Given the description of an element on the screen output the (x, y) to click on. 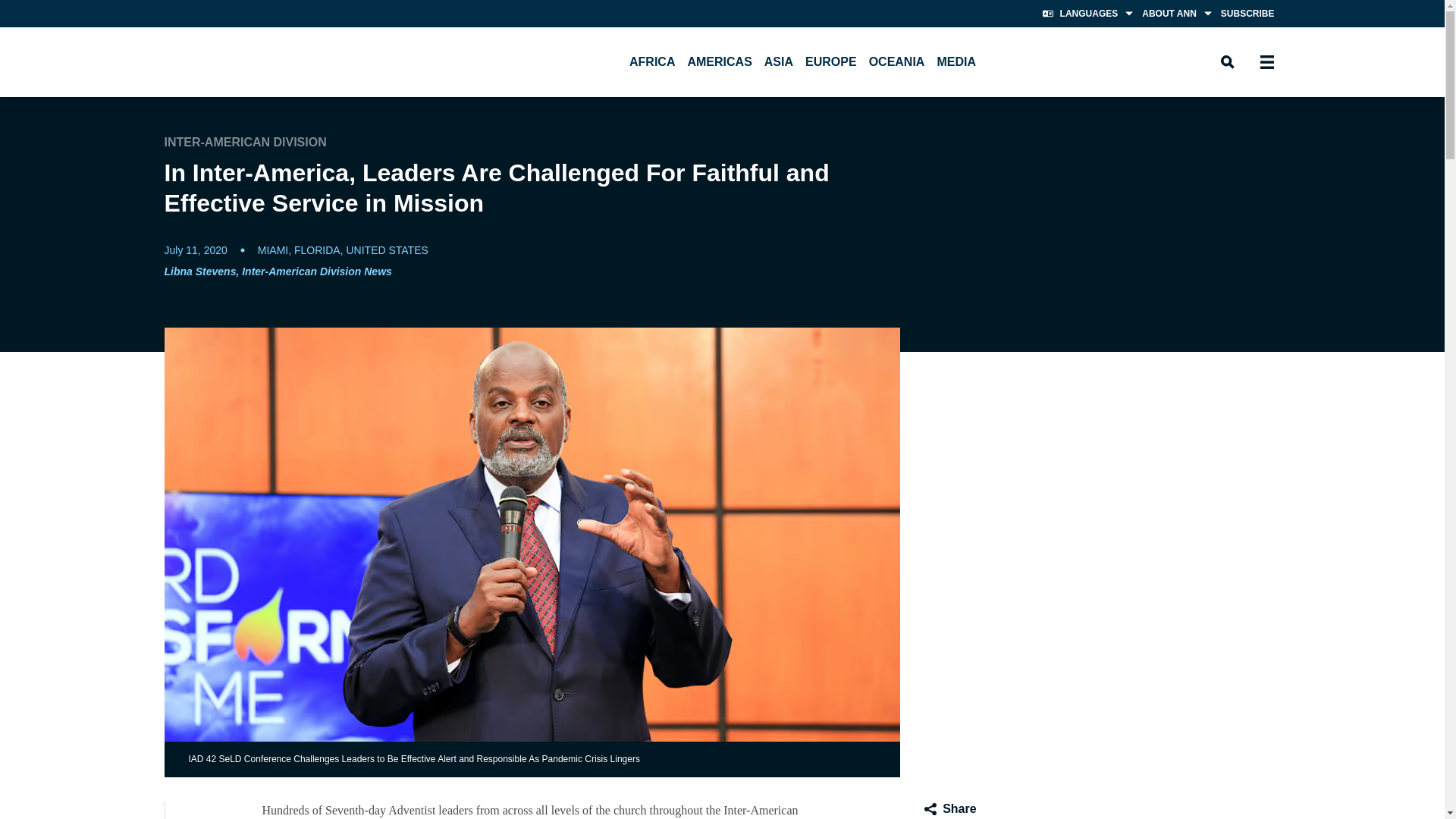
AMERICAS (719, 61)
ABOUT ANN (1174, 13)
ASIA (778, 61)
Search (1226, 61)
Share (949, 808)
OCEANIA (897, 61)
MEDIA (955, 61)
Menu (1265, 61)
SUBSCRIBE (1247, 13)
LANGUAGES (1086, 13)
EUROPE (831, 61)
AFRICA (652, 61)
